Given the description of an element on the screen output the (x, y) to click on. 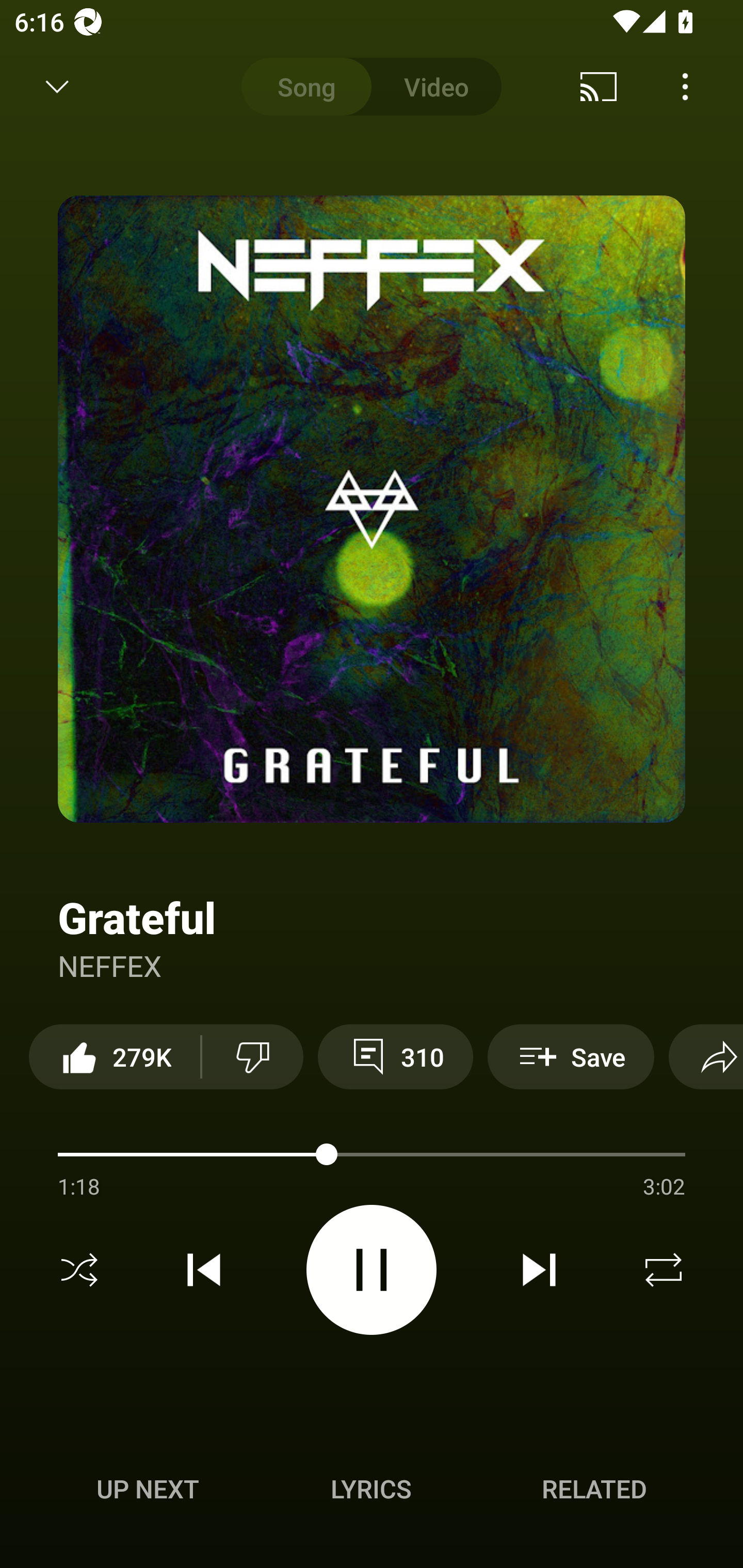
Minimize (57, 86)
Cast. Disconnected (598, 86)
Menu (684, 86)
Dislike (252, 1056)
310 View 310 comments (395, 1056)
Save Save to playlist (570, 1056)
Share (705, 1056)
Pause video (371, 1269)
Shuffle off (79, 1269)
Previous track (203, 1269)
Next track (538, 1269)
Repeat off (663, 1269)
Up next UP NEXT Lyrics LYRICS Related RELATED (371, 1491)
Lyrics LYRICS (370, 1488)
Related RELATED (594, 1488)
